Given the description of an element on the screen output the (x, y) to click on. 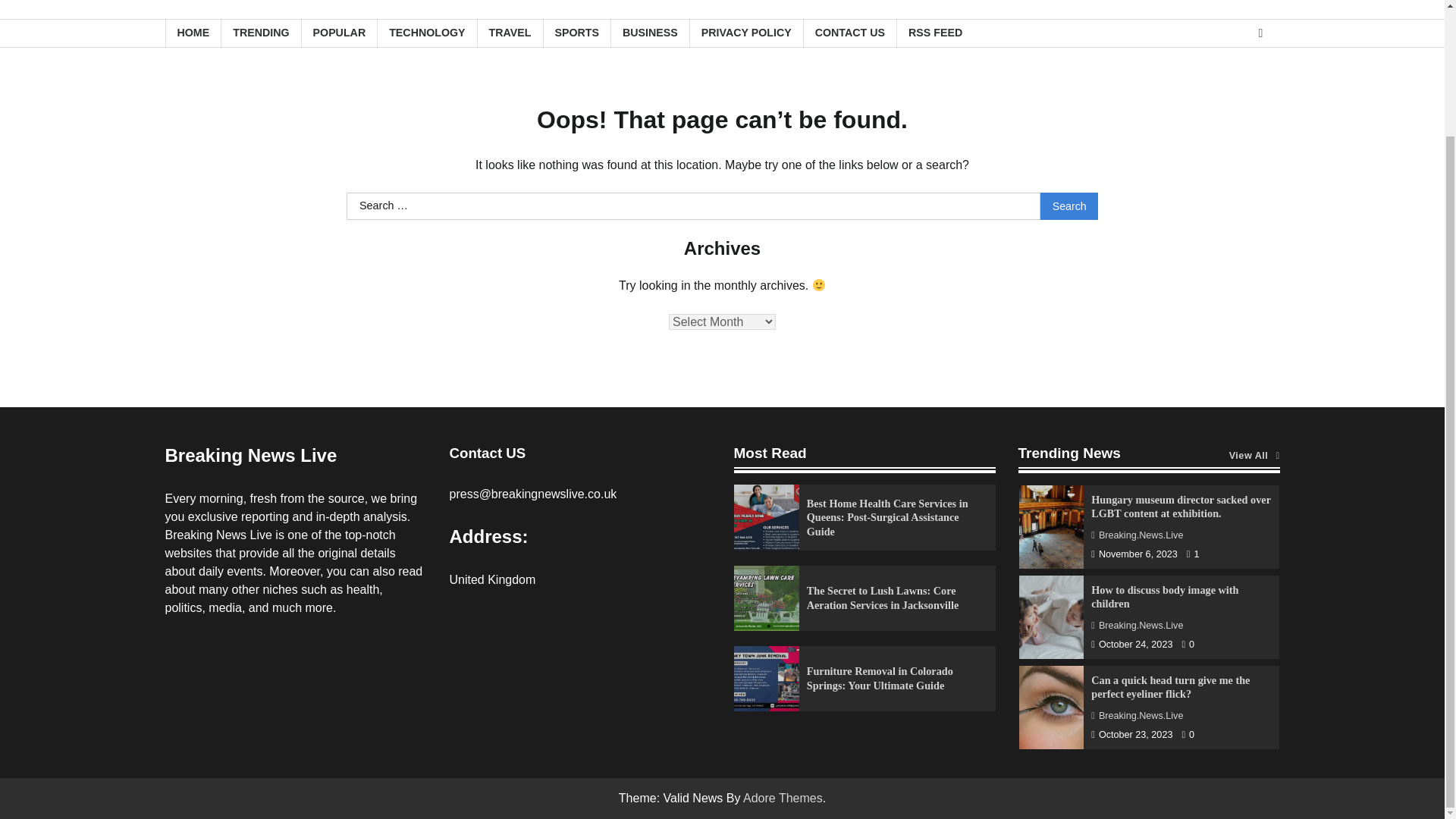
SPORTS (577, 32)
View Random Post (1260, 33)
Search (1069, 206)
TRENDING (260, 32)
TECHNOLOGY (426, 32)
Search (1069, 206)
RSS FEED (935, 32)
TRAVEL (510, 32)
Furniture Removal in Colorado Springs: Your Ultimate Guide (879, 678)
HOME (193, 32)
View All (1253, 455)
Search (1069, 206)
CONTACT US (849, 32)
